Given the description of an element on the screen output the (x, y) to click on. 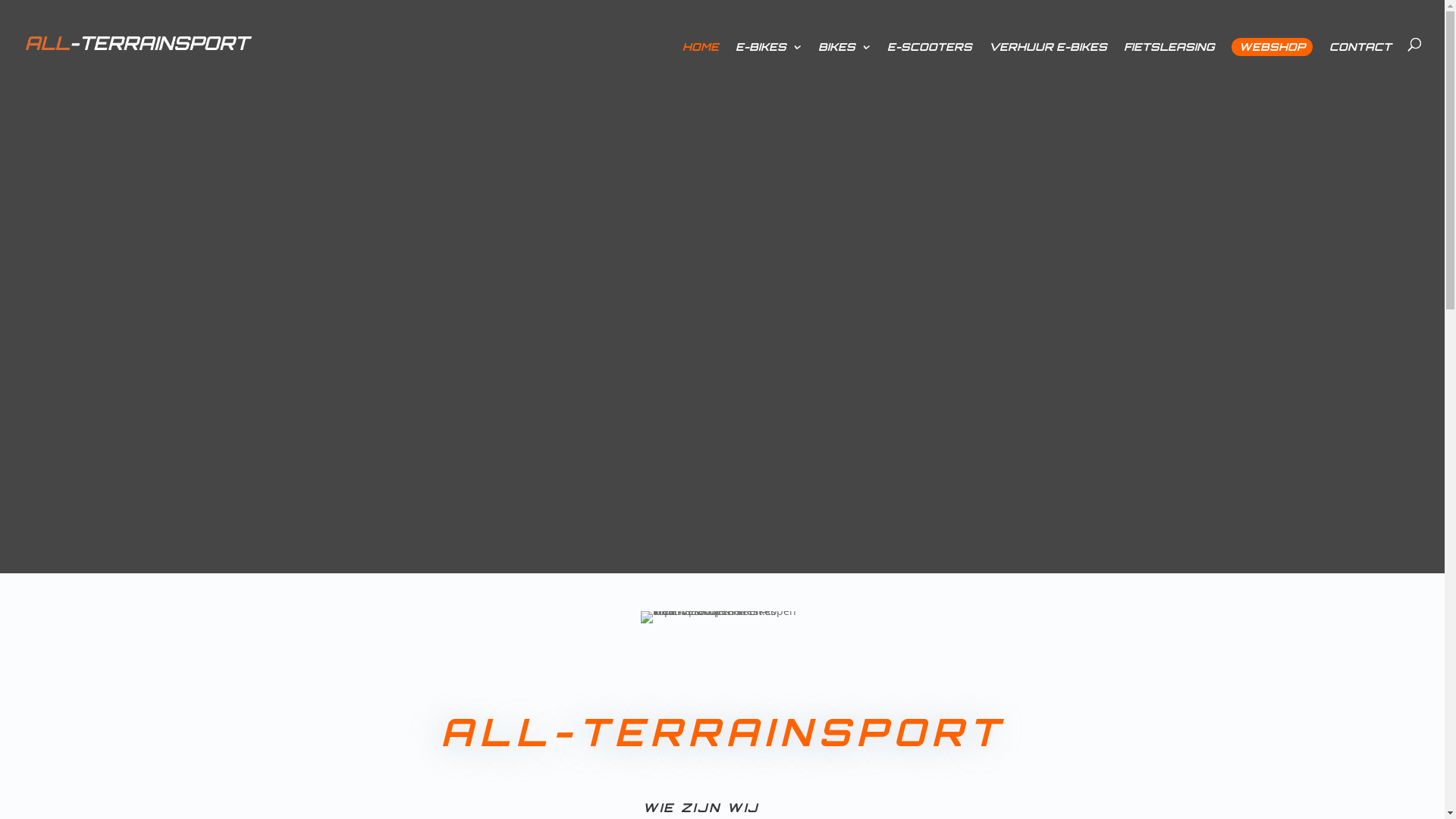
FIETSLEASING Element type: text (1168, 54)
CONTACT Element type: text (1360, 54)
HOME Element type: text (700, 54)
VERHUUR E-BIKES Element type: text (1047, 54)
E-SCOOTERS Element type: text (929, 54)
BIKES Element type: text (844, 54)
E-BIKES Element type: text (768, 54)
WEBSHOP Element type: text (1271, 46)
